Given the description of an element on the screen output the (x, y) to click on. 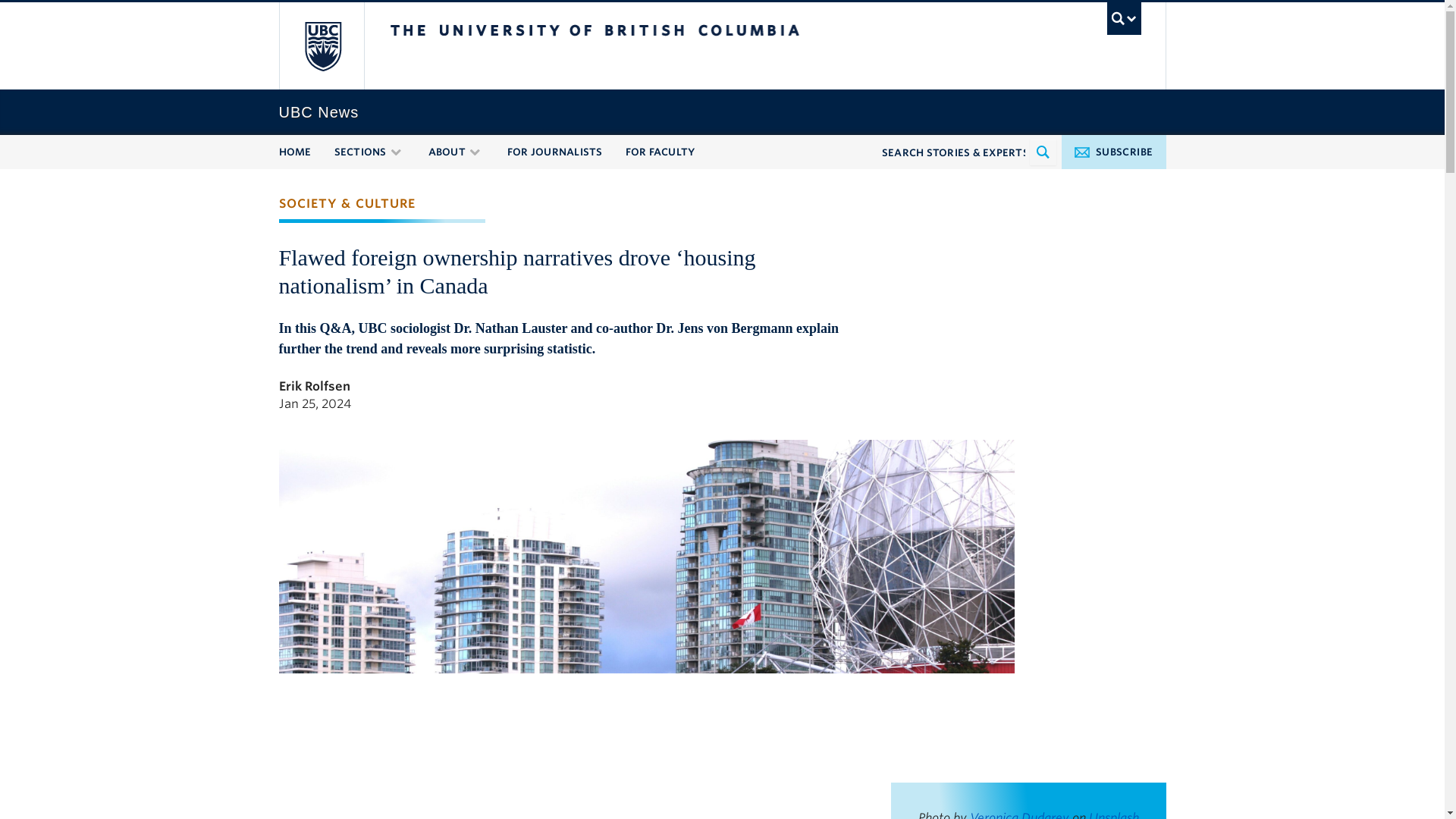
SUBSCRIBE (1113, 151)
The University of British Columbia (644, 45)
FOR FACULTY (659, 151)
FOR JOURNALISTS (554, 151)
ABOUT (446, 151)
HOME (295, 151)
UBC News (722, 112)
The University of British Columbia (322, 45)
SECTIONS (359, 151)
Unsplash (1113, 814)
